Given the description of an element on the screen output the (x, y) to click on. 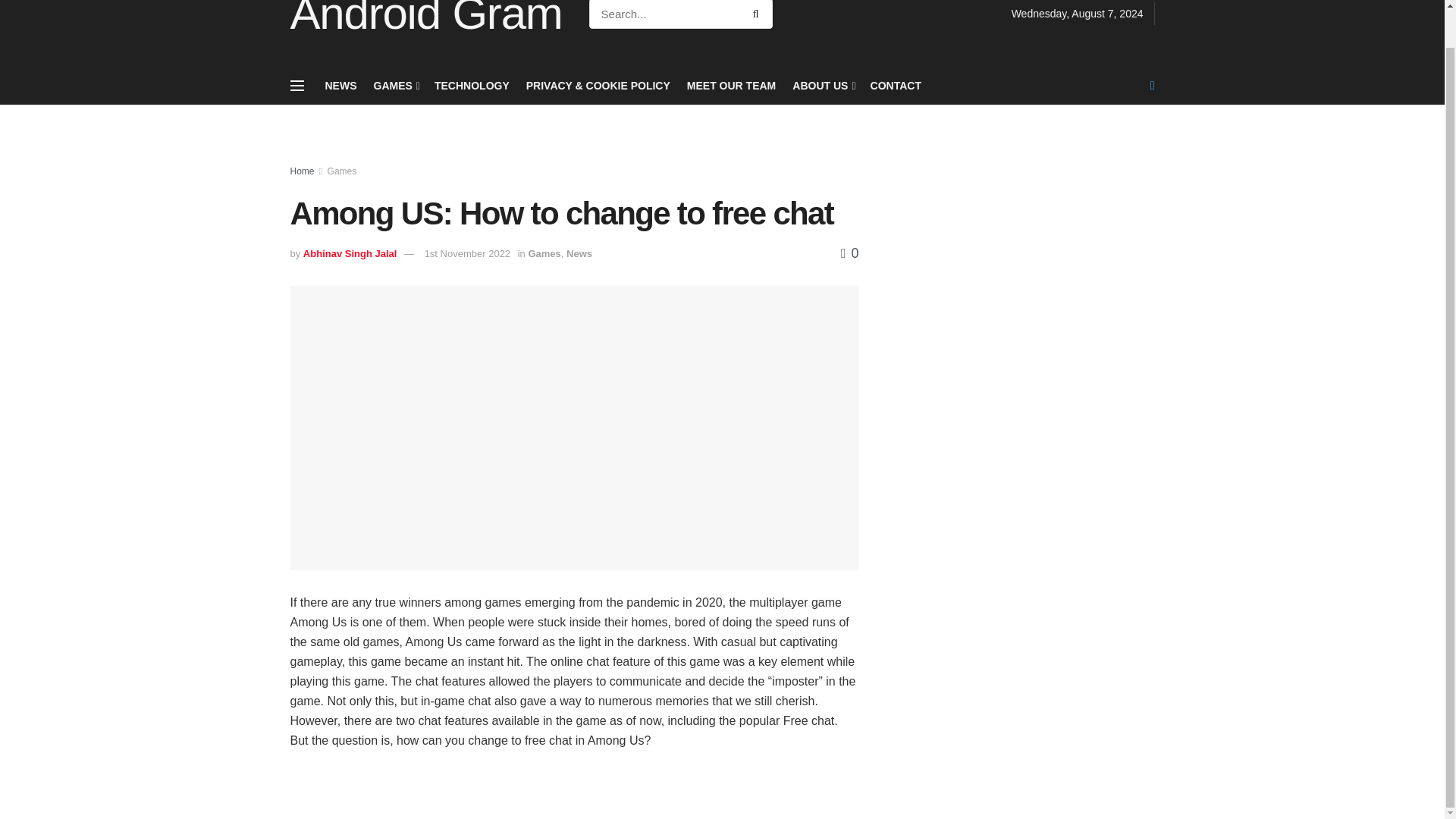
Games (341, 171)
GAMES (394, 85)
TECHNOLOGY (471, 85)
CONTACT (895, 85)
Games (543, 253)
Abhinav Singh Jalal (349, 253)
Android Gram (425, 18)
MEET OUR TEAM (731, 85)
ABOUT US (822, 85)
News (579, 253)
